Given the description of an element on the screen output the (x, y) to click on. 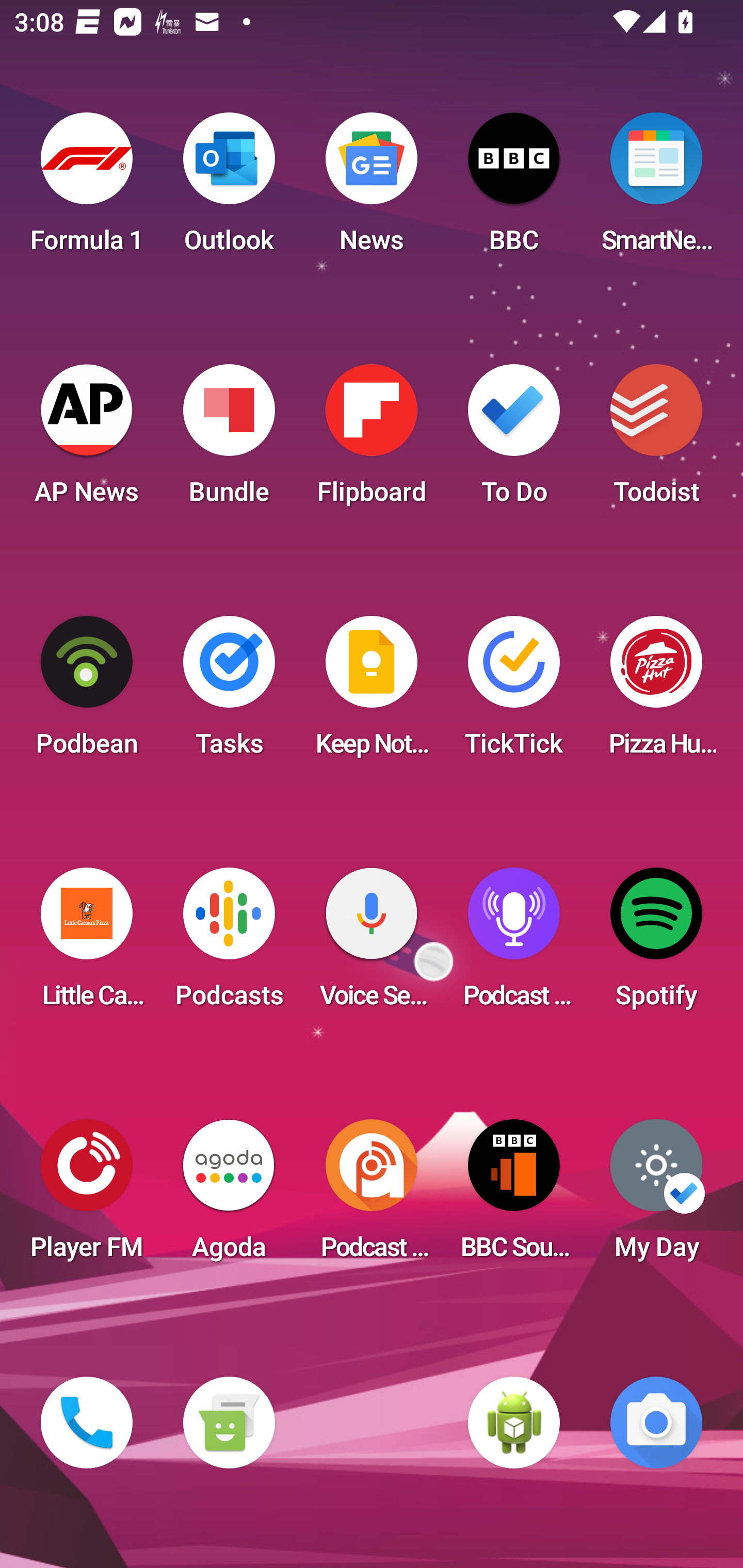
Formula 1 (86, 188)
Outlook (228, 188)
News (371, 188)
BBC (513, 188)
SmartNews (656, 188)
AP News (86, 440)
Bundle (228, 440)
Flipboard (371, 440)
To Do (513, 440)
Todoist (656, 440)
Podbean (86, 692)
Tasks (228, 692)
Keep Notes (371, 692)
TickTick (513, 692)
Pizza Hut HK & Macau (656, 692)
Little Caesars Pizza (86, 943)
Podcasts (228, 943)
Voice Search (371, 943)
Podcast Player (513, 943)
Spotify (656, 943)
Player FM (86, 1195)
Agoda (228, 1195)
Podcast Addict (371, 1195)
BBC Sounds (513, 1195)
My Day (656, 1195)
Phone (86, 1422)
Messaging (228, 1422)
WebView Browser Tester (513, 1422)
Camera (656, 1422)
